Given the description of an element on the screen output the (x, y) to click on. 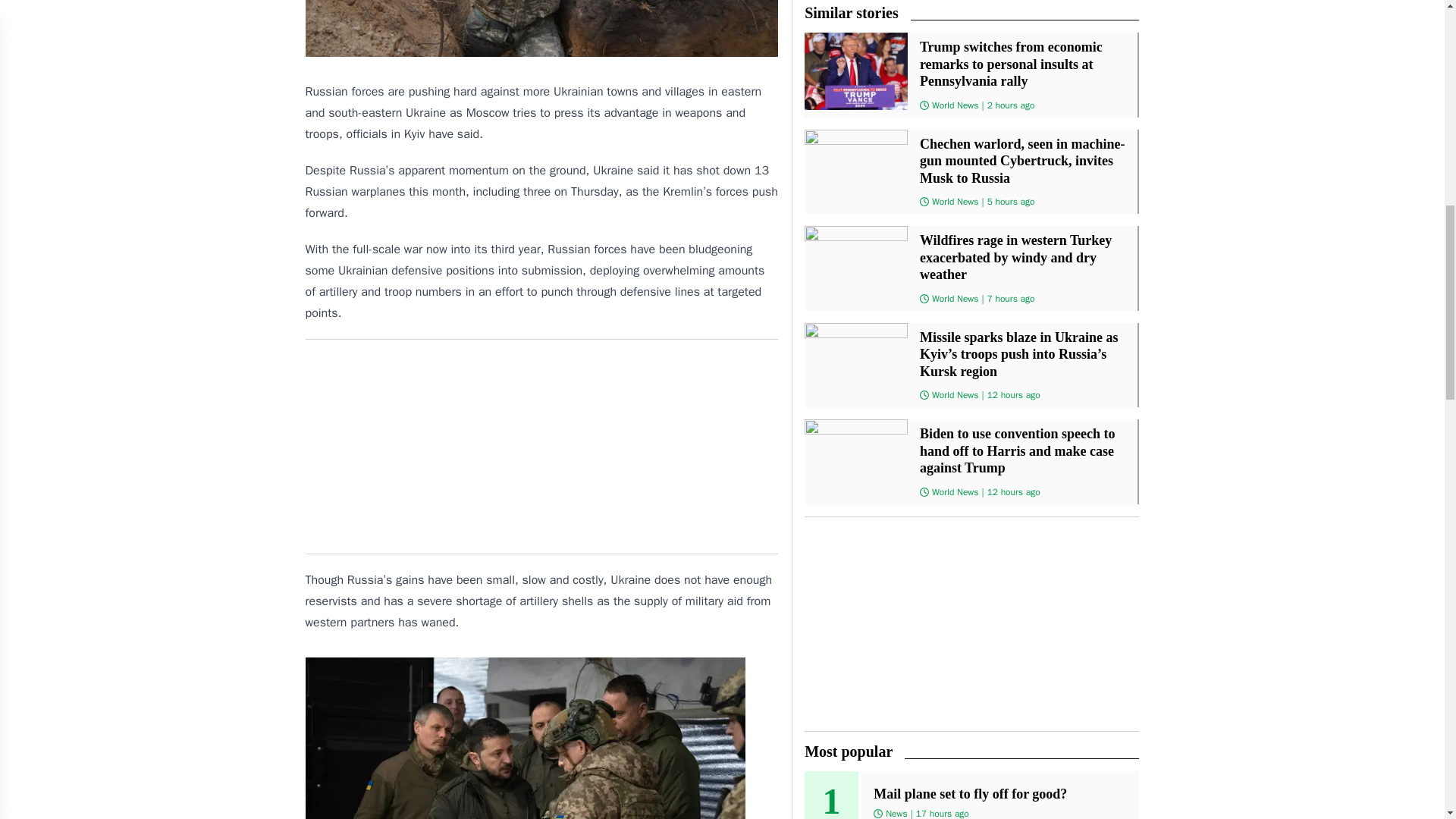
World News (954, 395)
World News (954, 201)
News (896, 812)
World News (954, 298)
World News (954, 104)
World News (954, 491)
